Given the description of an element on the screen output the (x, y) to click on. 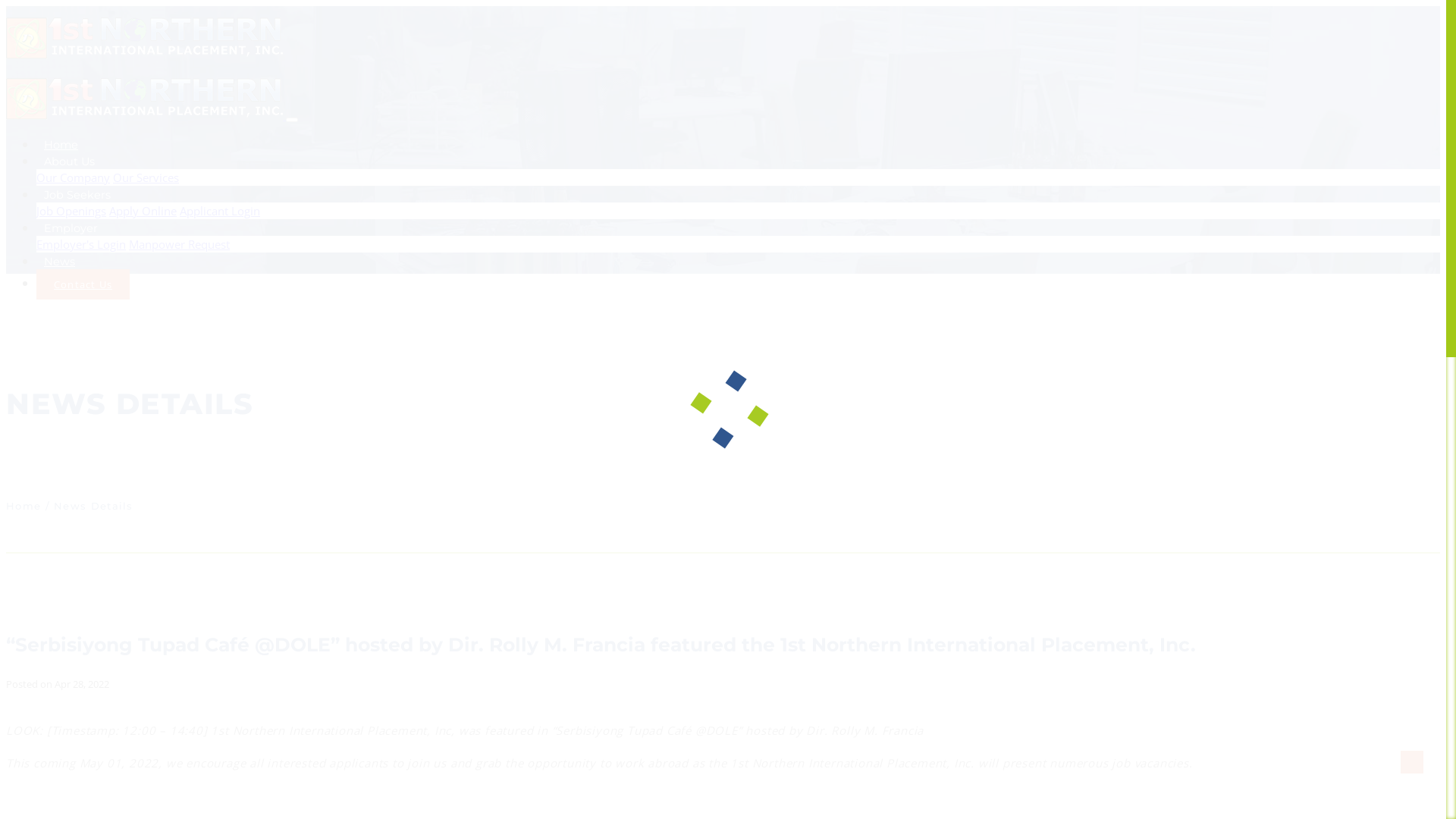
News Element type: text (59, 261)
Employer's Login Element type: text (80, 244)
Applicant Login Element type: text (219, 210)
Job Openings Element type: text (71, 210)
Apply Online Element type: text (142, 210)
Manpower Request Element type: text (178, 244)
Employer Element type: text (70, 228)
Contact Us Element type: text (82, 284)
Our Company Element type: text (72, 177)
Our Services Element type: text (145, 177)
About Us Element type: text (68, 161)
Job Seekers Element type: text (76, 194)
Home Element type: text (60, 144)
